Given the description of an element on the screen output the (x, y) to click on. 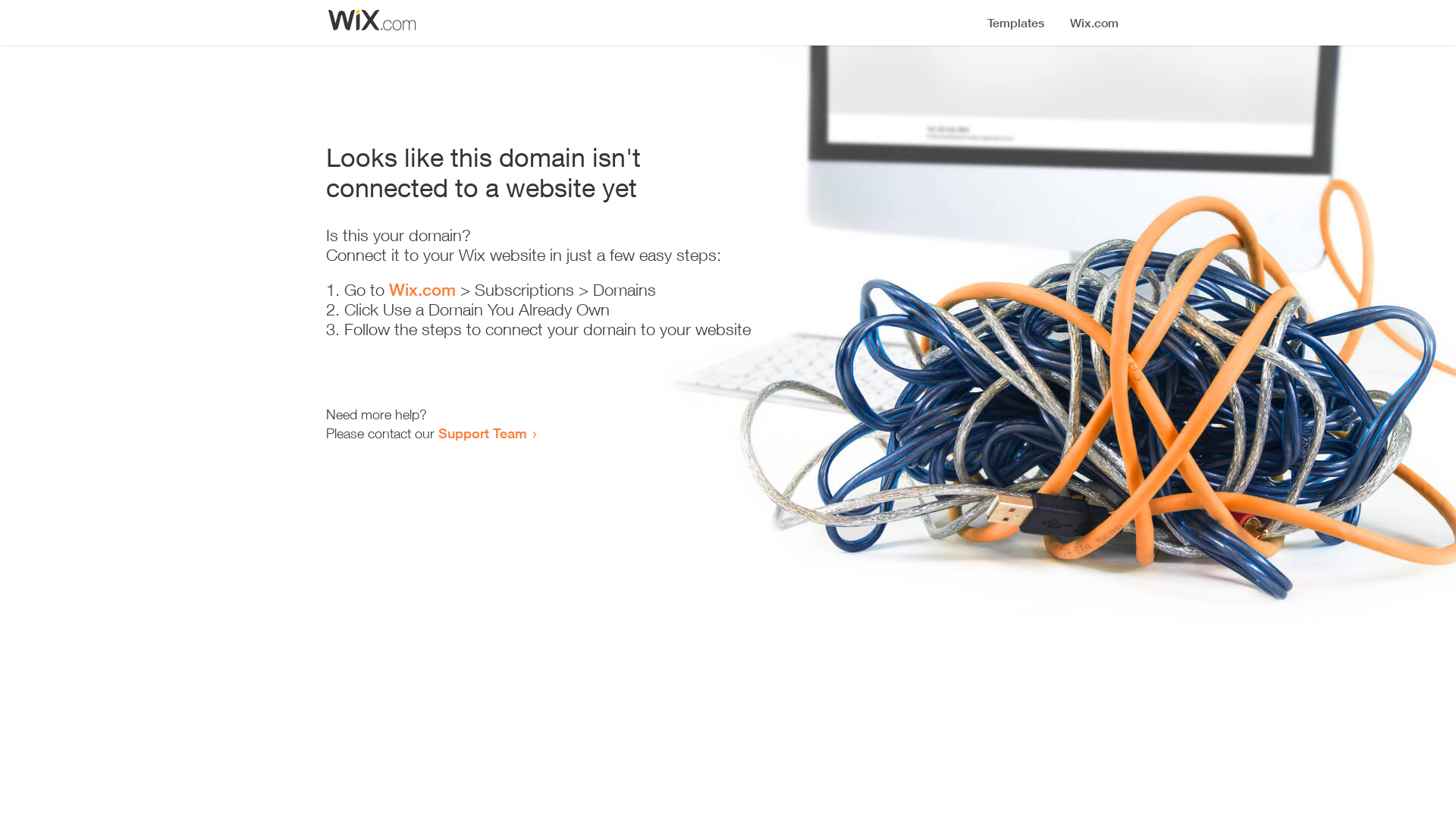
Support Team Element type: text (482, 432)
Wix.com Element type: text (422, 289)
